Given the description of an element on the screen output the (x, y) to click on. 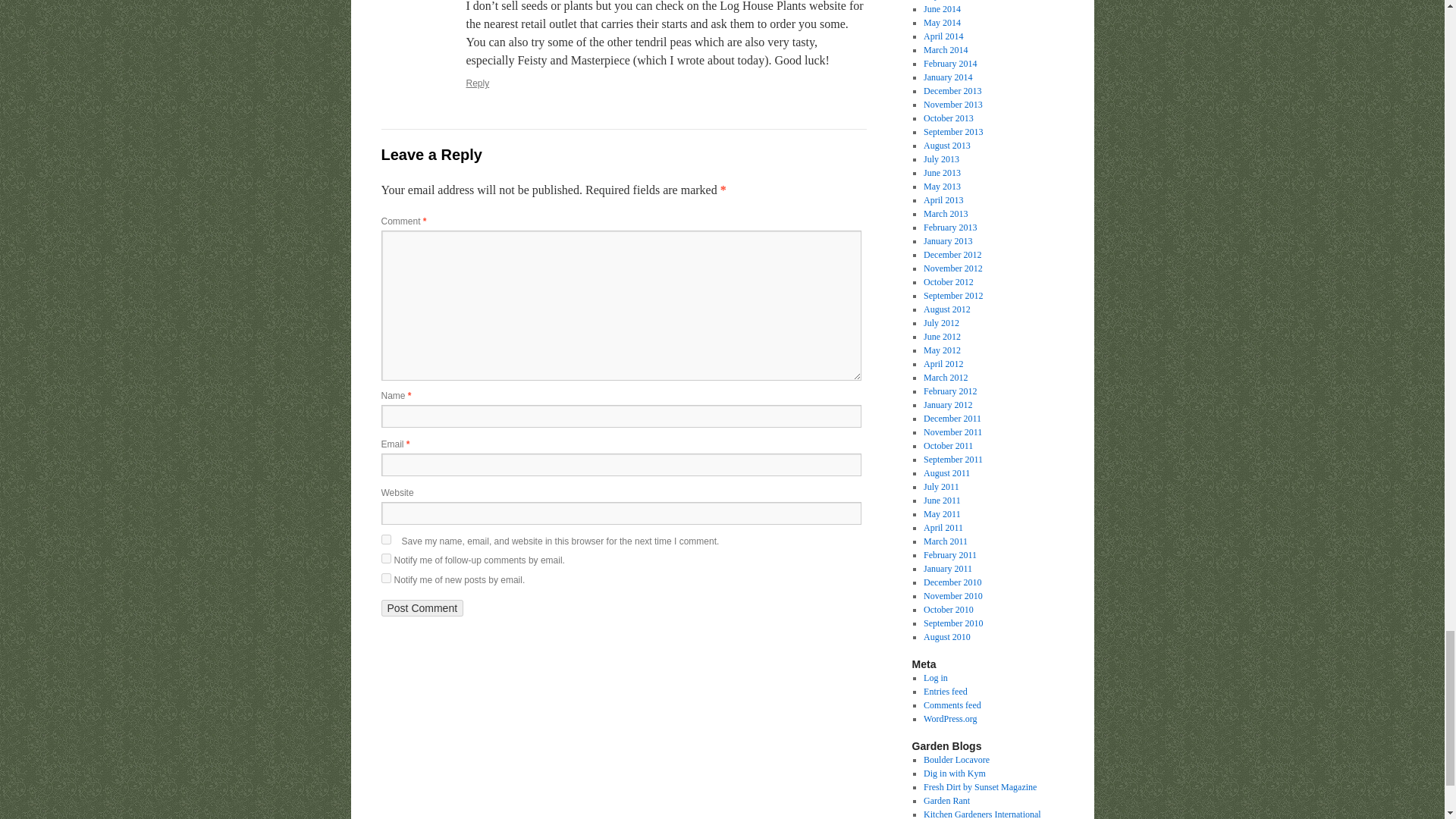
subscribe (385, 578)
Post Comment (421, 607)
yes (385, 539)
subscribe (385, 558)
